Given the description of an element on the screen output the (x, y) to click on. 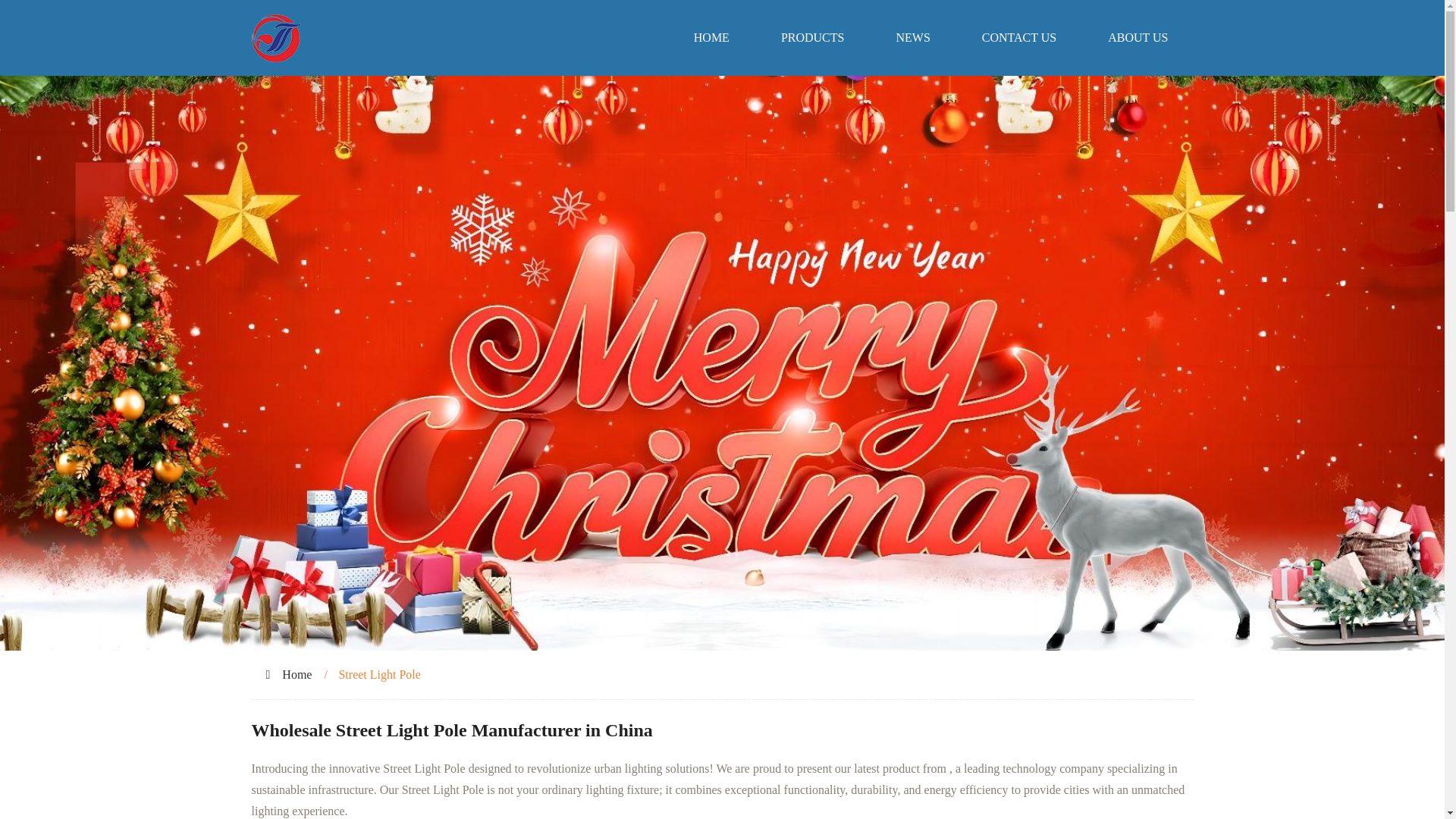
Home (296, 674)
PRODUCTS (812, 38)
CONTACT US (1018, 38)
